Given the description of an element on the screen output the (x, y) to click on. 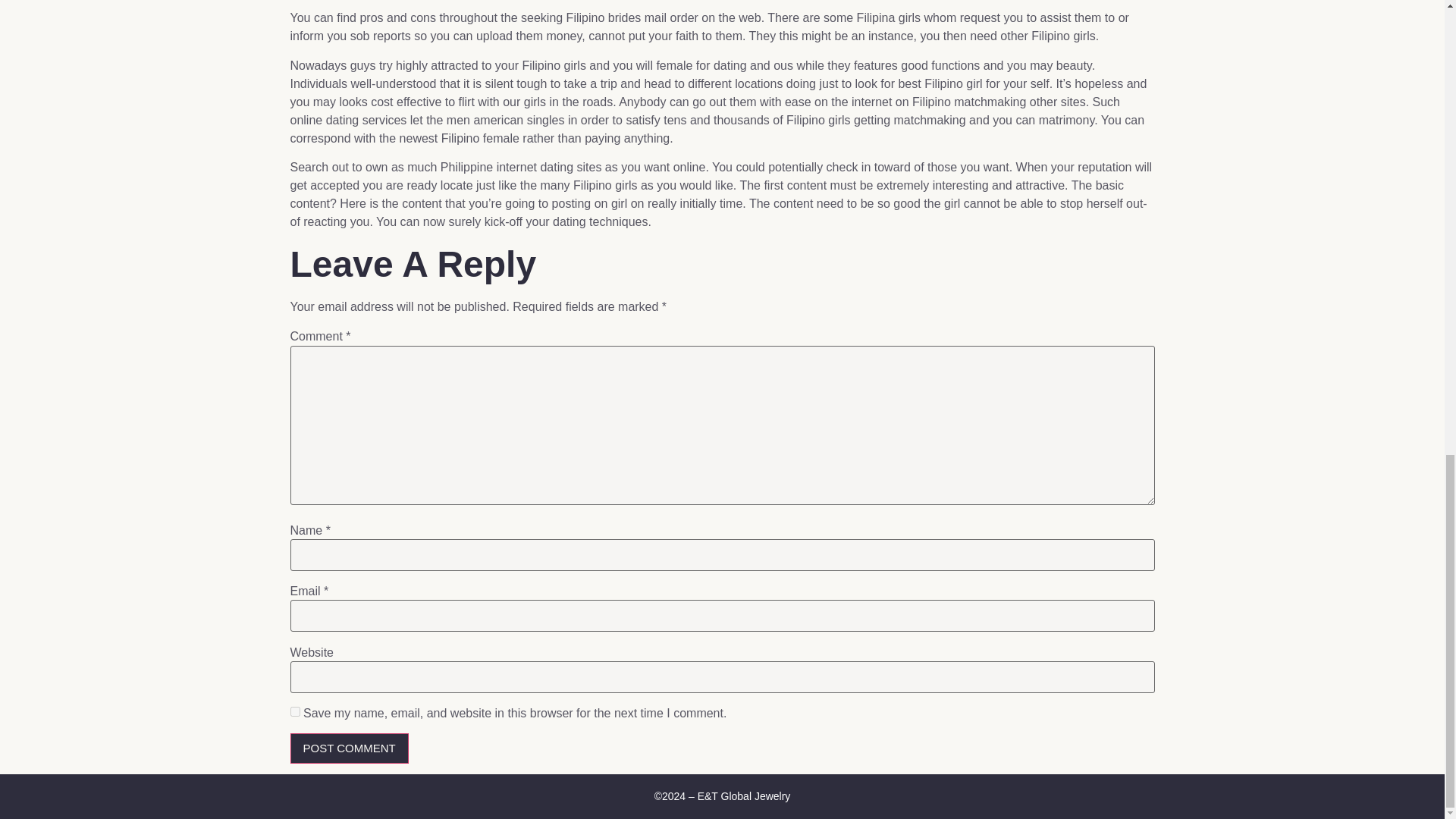
Post Comment (348, 748)
yes (294, 711)
Post Comment (348, 748)
